Given the description of an element on the screen output the (x, y) to click on. 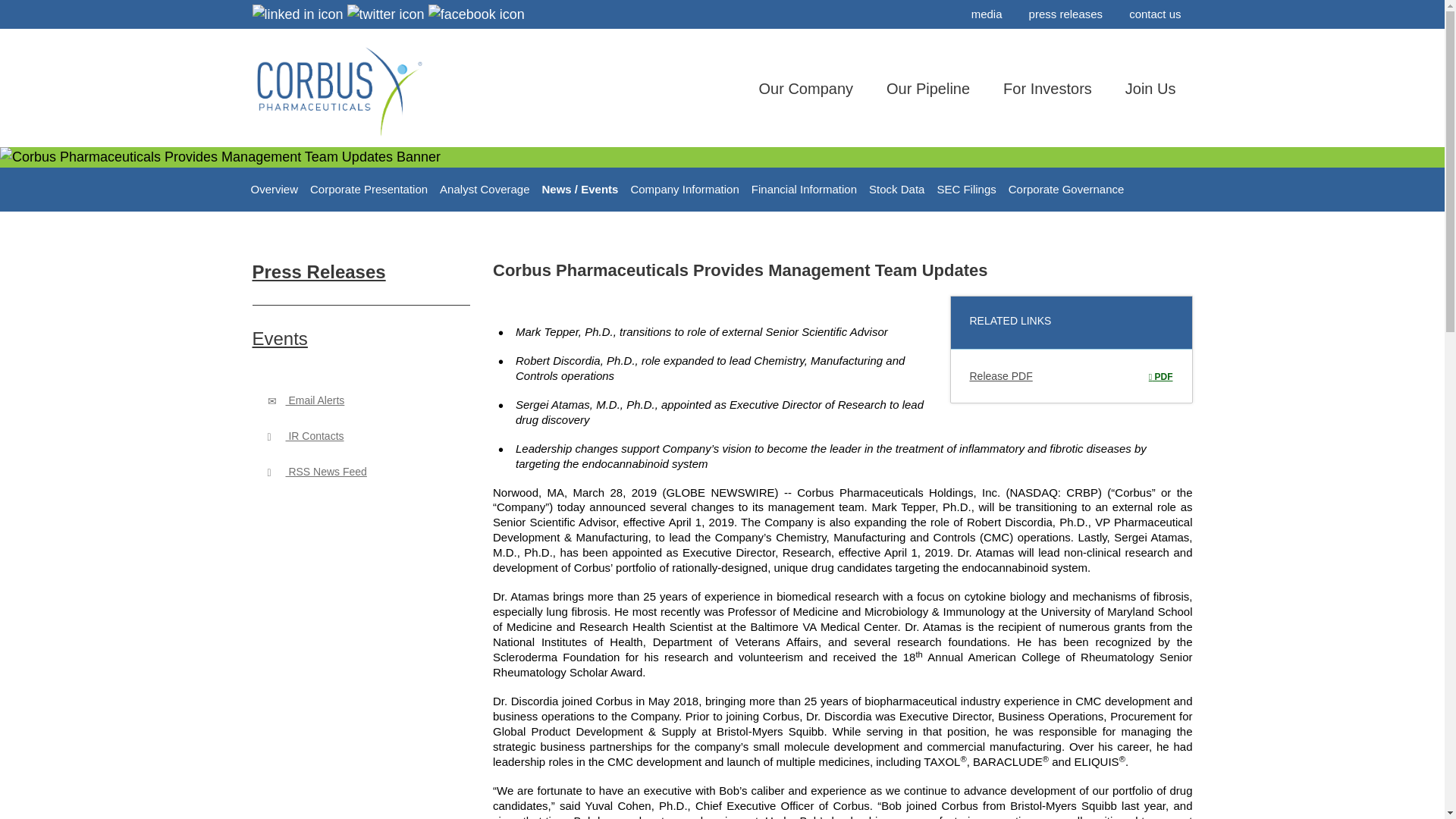
For Investors (1047, 102)
media (986, 14)
Our Company (806, 102)
PDF: Corbus Pharmaceuticals Provides Management Team Updates (1160, 376)
Our Pipeline (928, 102)
press releases (1066, 14)
contact us (1155, 14)
